Given the description of an element on the screen output the (x, y) to click on. 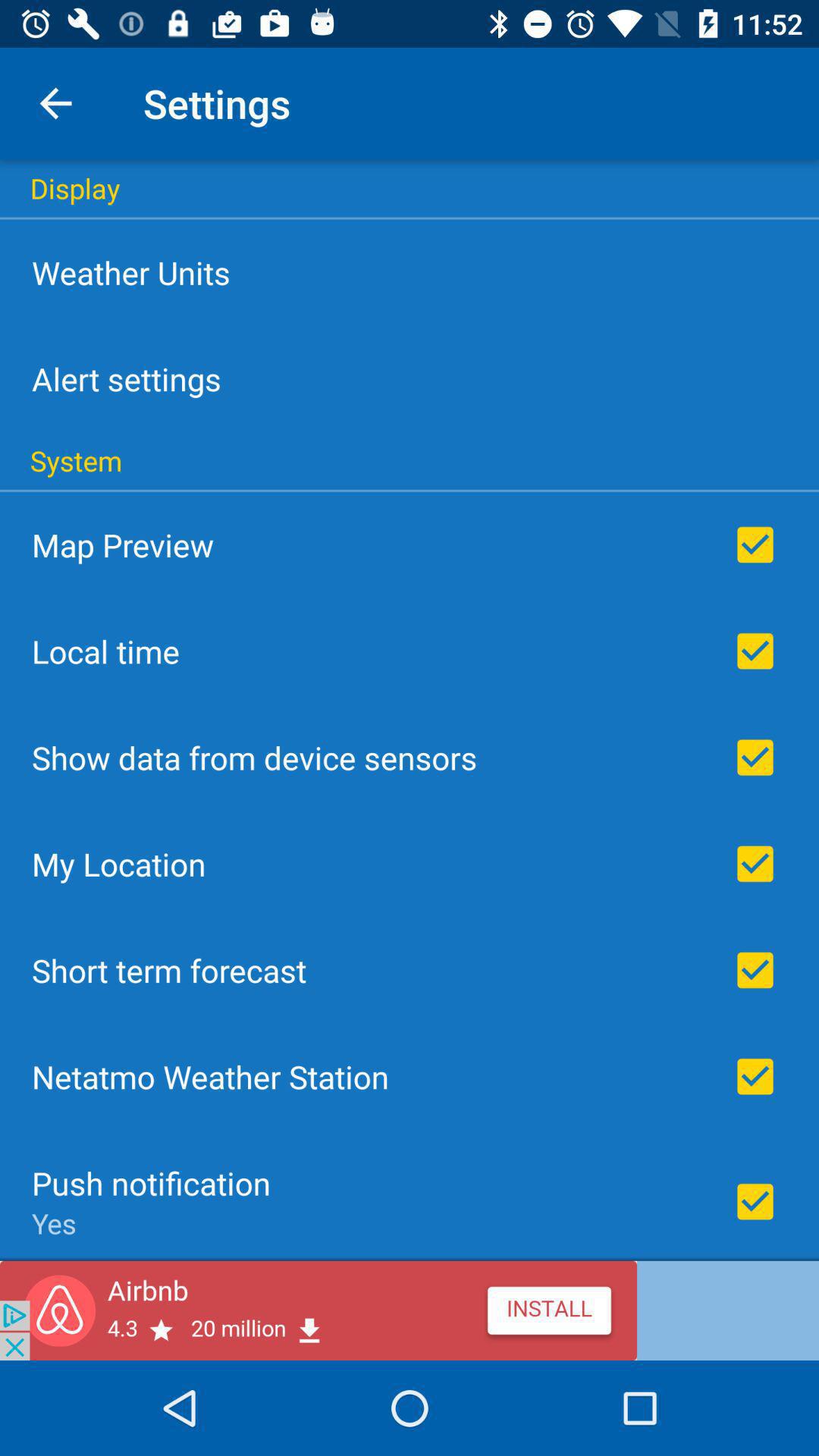
install the app (409, 1310)
